Given the description of an element on the screen output the (x, y) to click on. 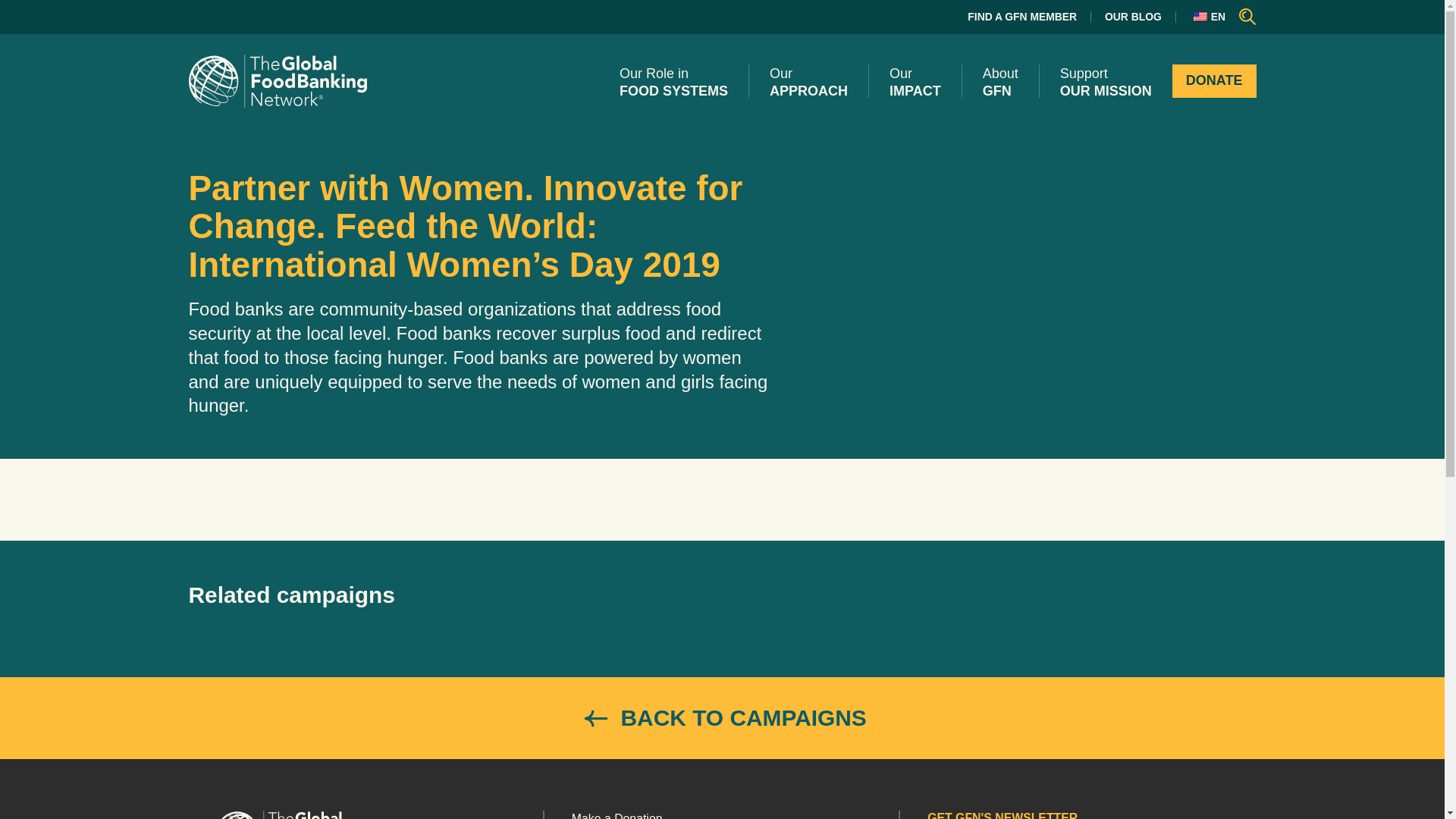
English (1200, 16)
OUR BLOG (1133, 16)
EN (1207, 16)
FIND A GFN MEMBER (1022, 16)
